Given the description of an element on the screen output the (x, y) to click on. 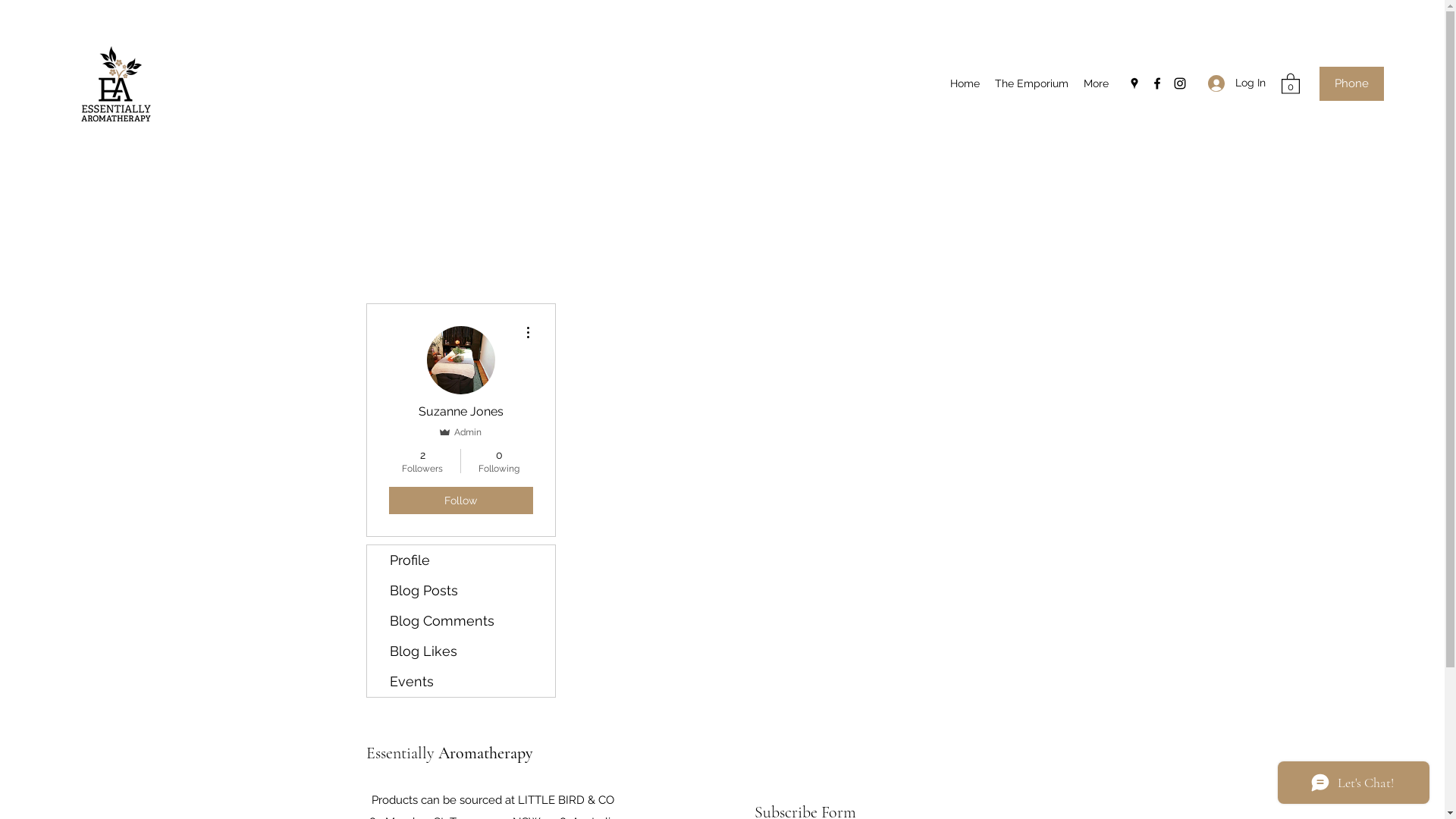
2
Followers Element type: text (421, 460)
Follow Element type: text (460, 500)
Blog Posts Element type: text (461, 590)
Home Element type: text (964, 83)
The Emporium Element type: text (1031, 83)
Log In Element type: text (1236, 83)
0 Element type: text (1290, 83)
Blog Comments Element type: text (461, 620)
Blog Likes Element type: text (461, 651)
Phone Element type: text (1351, 83)
Events Element type: text (461, 681)
0
Following Element type: text (499, 460)
Essentially Aromatherapy Element type: text (448, 752)
Profile Element type: text (461, 560)
